Given the description of an element on the screen output the (x, y) to click on. 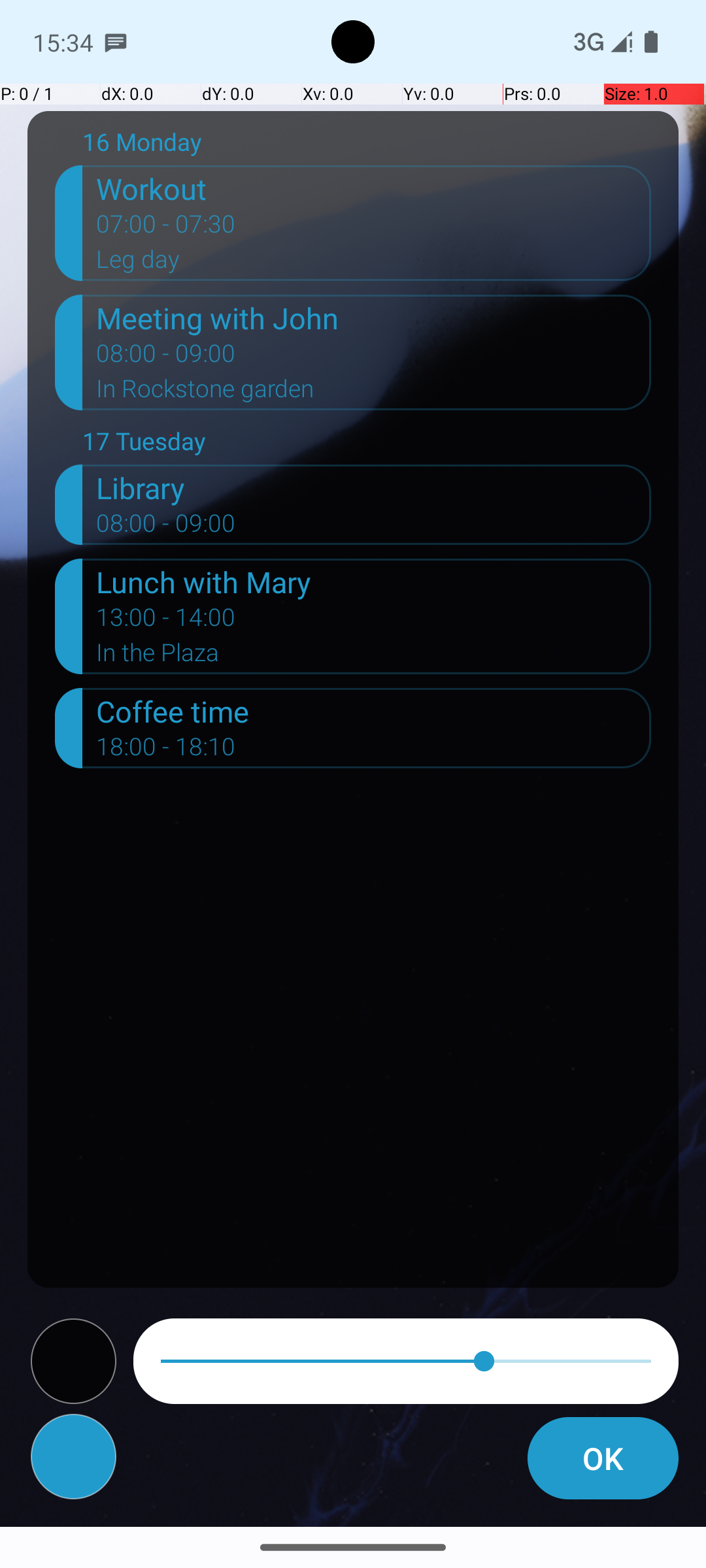
16 Monday Element type: android.widget.TextView (366, 144)
17 Tuesday Element type: android.widget.TextView (366, 444)
Workout Element type: android.widget.TextView (373, 187)
07:00 - 07:30 Element type: android.widget.TextView (165, 227)
Leg day Element type: android.widget.TextView (373, 262)
Meeting with John Element type: android.widget.TextView (373, 316)
08:00 - 09:00 Element type: android.widget.TextView (165, 357)
In Rockstone garden Element type: android.widget.TextView (373, 392)
Library Element type: android.widget.TextView (373, 486)
Lunch with Mary Element type: android.widget.TextView (373, 580)
13:00 - 14:00 Element type: android.widget.TextView (165, 620)
In the Plaza Element type: android.widget.TextView (373, 656)
Coffee time Element type: android.widget.TextView (373, 710)
18:00 - 18:10 Element type: android.widget.TextView (165, 750)
